Given the description of an element on the screen output the (x, y) to click on. 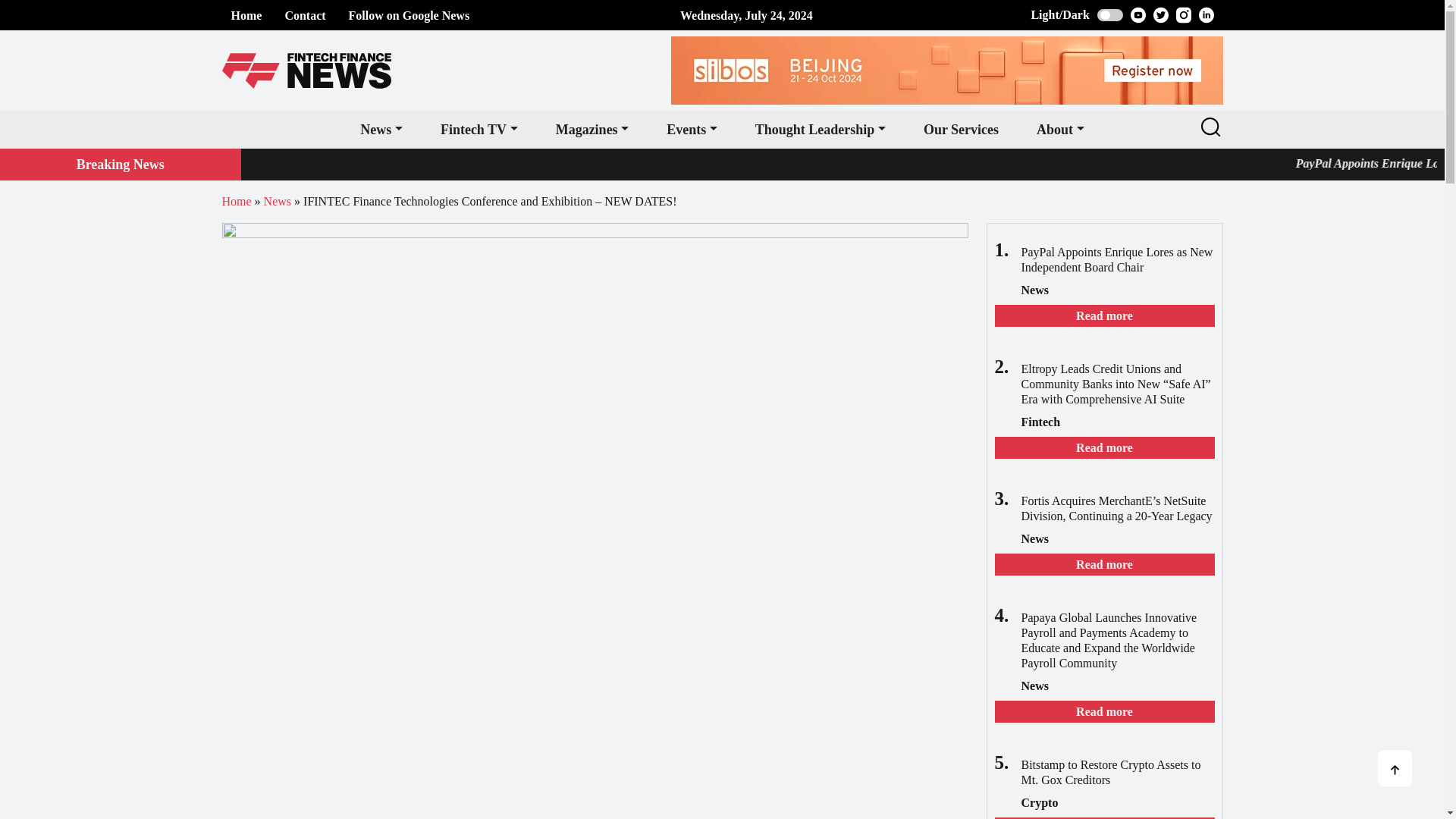
Follow on Google News (409, 15)
Events (691, 129)
News (381, 129)
Magazines (592, 129)
Home (246, 15)
Fintech TV (479, 129)
Fintech TV (479, 129)
Contact (303, 15)
